Given the description of an element on the screen output the (x, y) to click on. 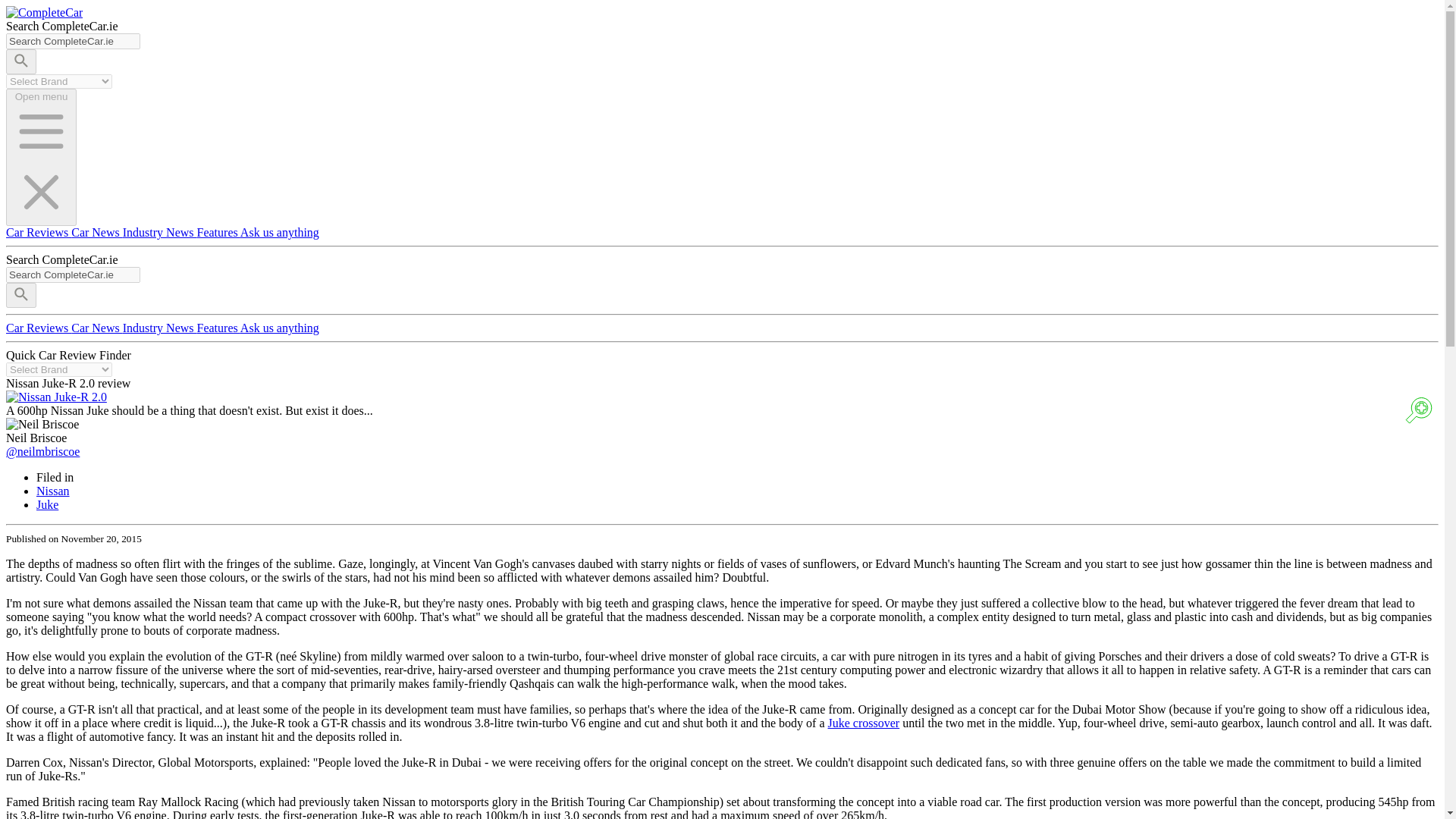
Car Reviews (38, 327)
Features (218, 327)
Neil Briscoe (41, 424)
Features (218, 232)
Ask us anything (279, 327)
Car News (96, 232)
Car Reviews (38, 232)
Ask us anything (279, 232)
Nissan (52, 490)
Search CompleteCar.ie (72, 274)
